Given the description of an element on the screen output the (x, y) to click on. 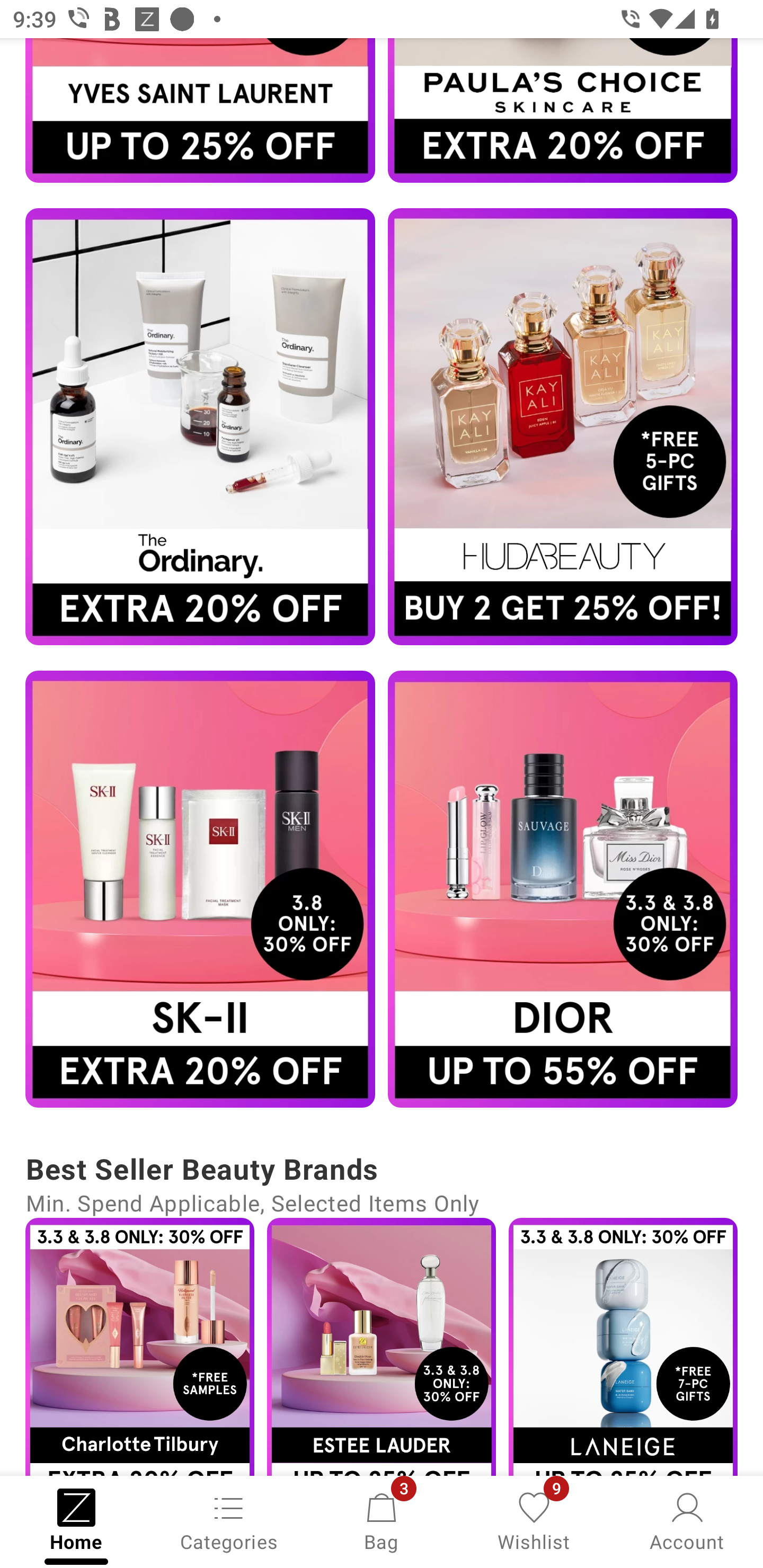
Campaign banner (200, 110)
Campaign banner (562, 110)
Campaign banner (200, 426)
Campaign banner (562, 426)
Campaign banner (200, 889)
Campaign banner (562, 889)
Campaign banner (139, 1346)
Campaign banner (381, 1346)
Campaign banner (622, 1346)
Categories (228, 1519)
Bag, 3 new notifications Bag (381, 1519)
Wishlist, 9 new notifications Wishlist (533, 1519)
Account (686, 1519)
